Given the description of an element on the screen output the (x, y) to click on. 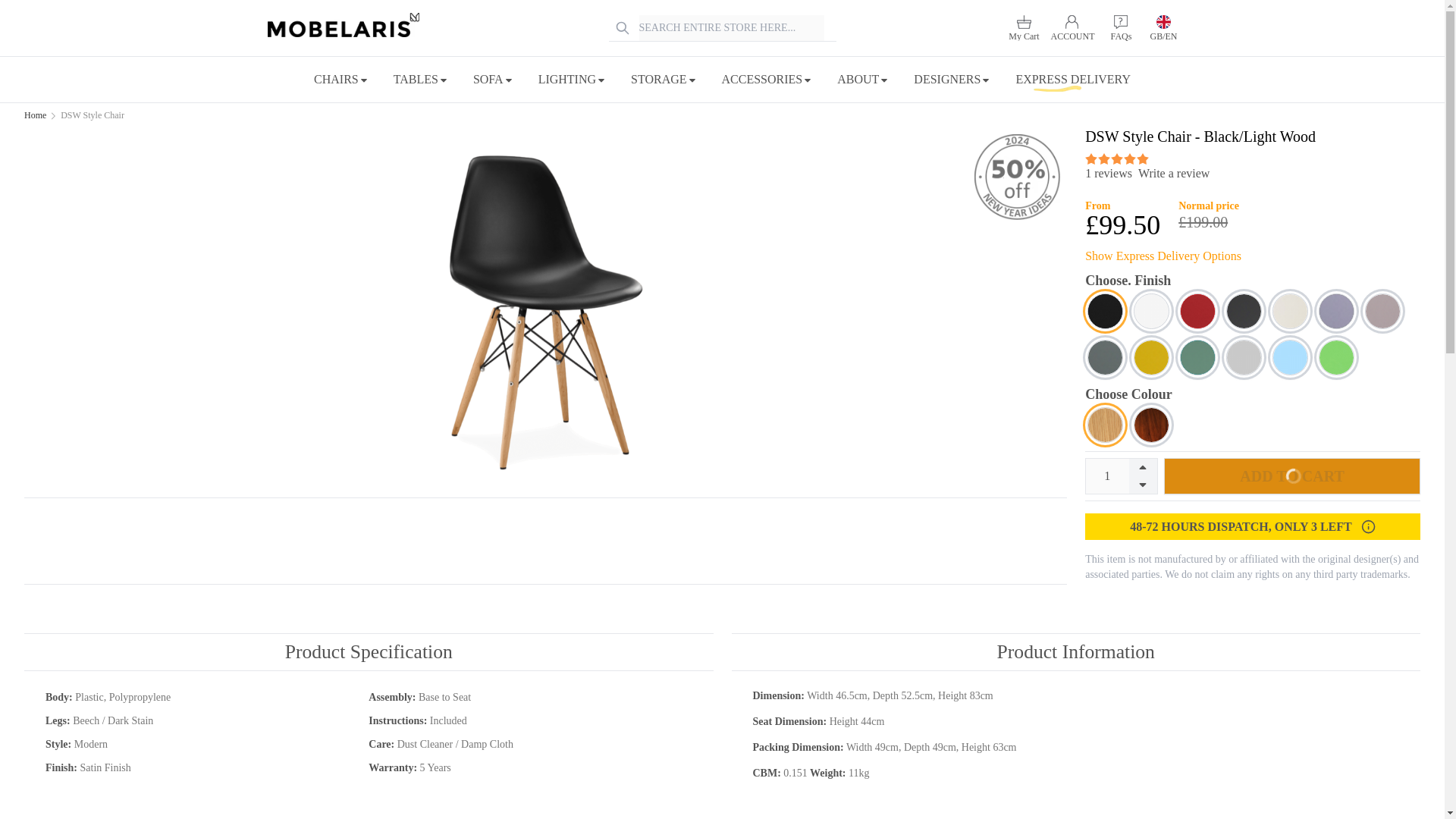
FAQs (1120, 27)
on (1142, 158)
TABLES (420, 79)
on (1090, 158)
1 (1107, 475)
CHAIRS (341, 79)
on (1103, 158)
on (1129, 158)
on (1116, 158)
